Given the description of an element on the screen output the (x, y) to click on. 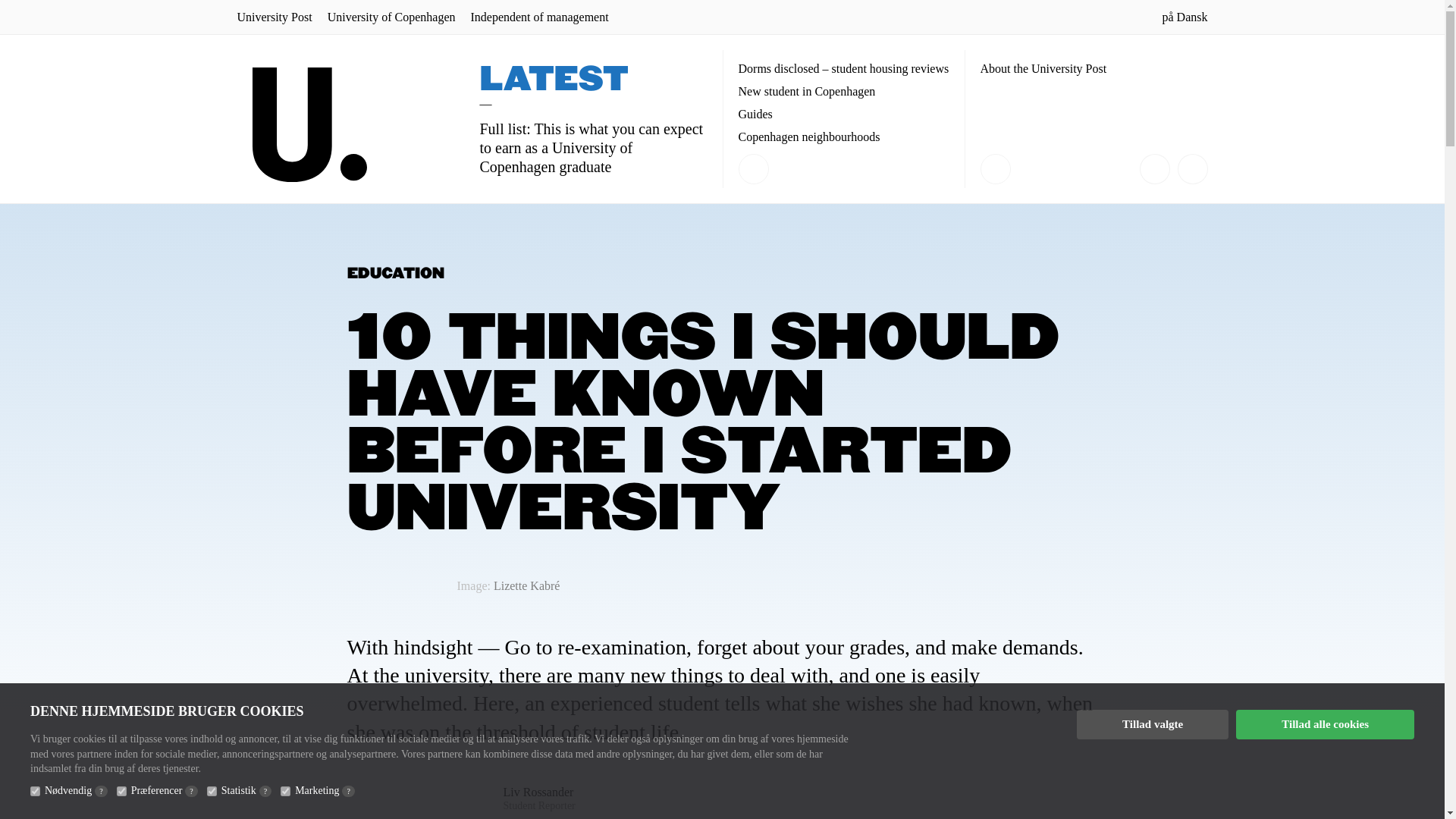
University Post (273, 17)
Tillad alle cookies (1324, 724)
on (211, 791)
on (121, 791)
on (35, 791)
LATEST (553, 79)
on (285, 791)
Tillad valgte (1152, 724)
